Given the description of an element on the screen output the (x, y) to click on. 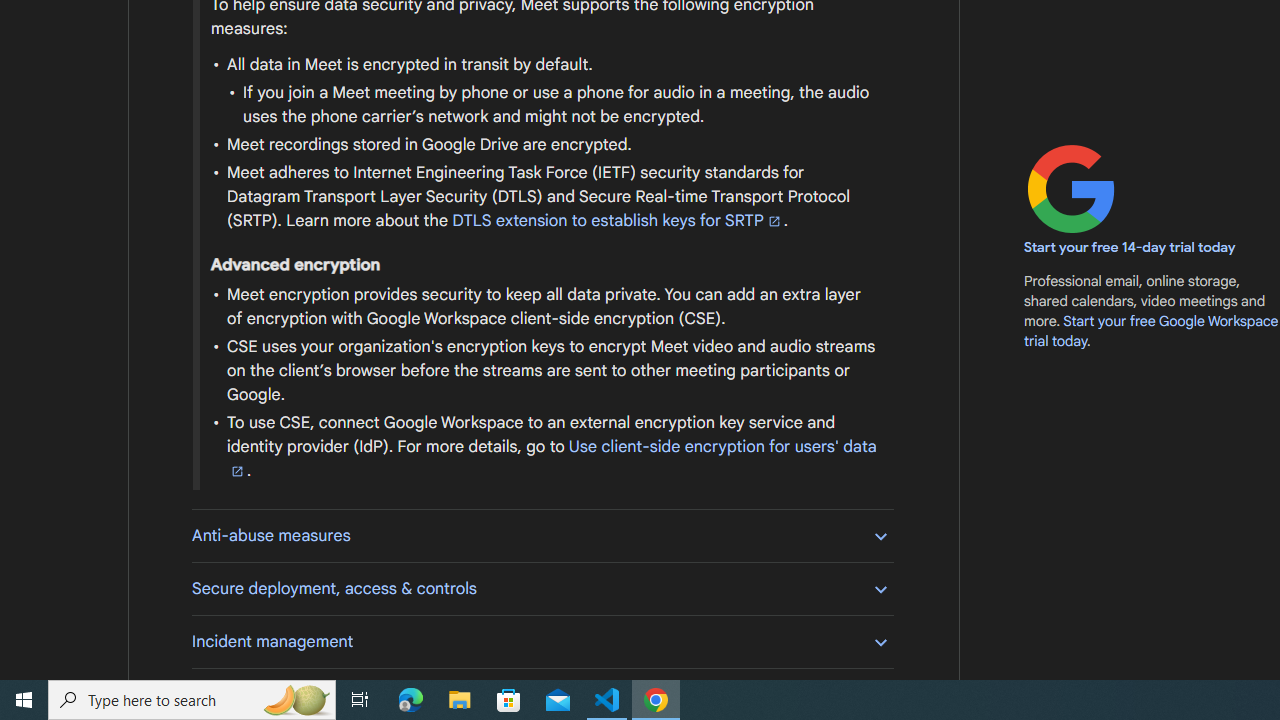
Start your free Google Workspace trial today (1151, 330)
Secure deployment, access & controls (542, 588)
Anti-abuse measures (542, 535)
Incident management (542, 641)
DTLS extension to establish keys for SRTP (617, 220)
Start your free 14-day trial today (1130, 247)
Use client-side encryption for users' data (551, 458)
